Given the description of an element on the screen output the (x, y) to click on. 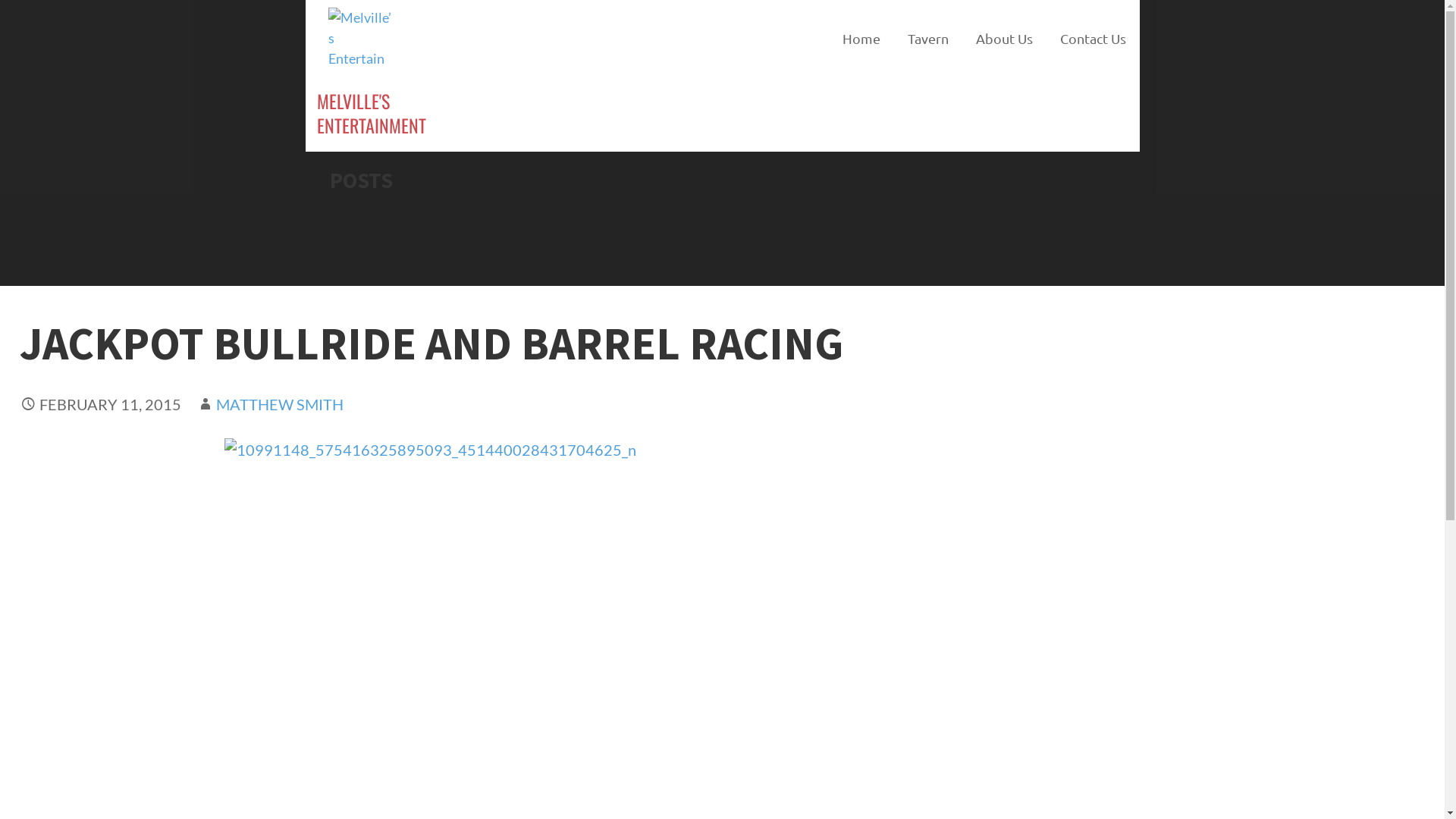
Contact Us Element type: text (1092, 37)
About Us Element type: text (1003, 37)
MATTHEW SMITH Element type: text (279, 404)
Home Element type: text (860, 37)
MELVILLE'S ENTERTAINMENT Element type: text (371, 112)
Tavern Element type: text (927, 37)
